Given the description of an element on the screen output the (x, y) to click on. 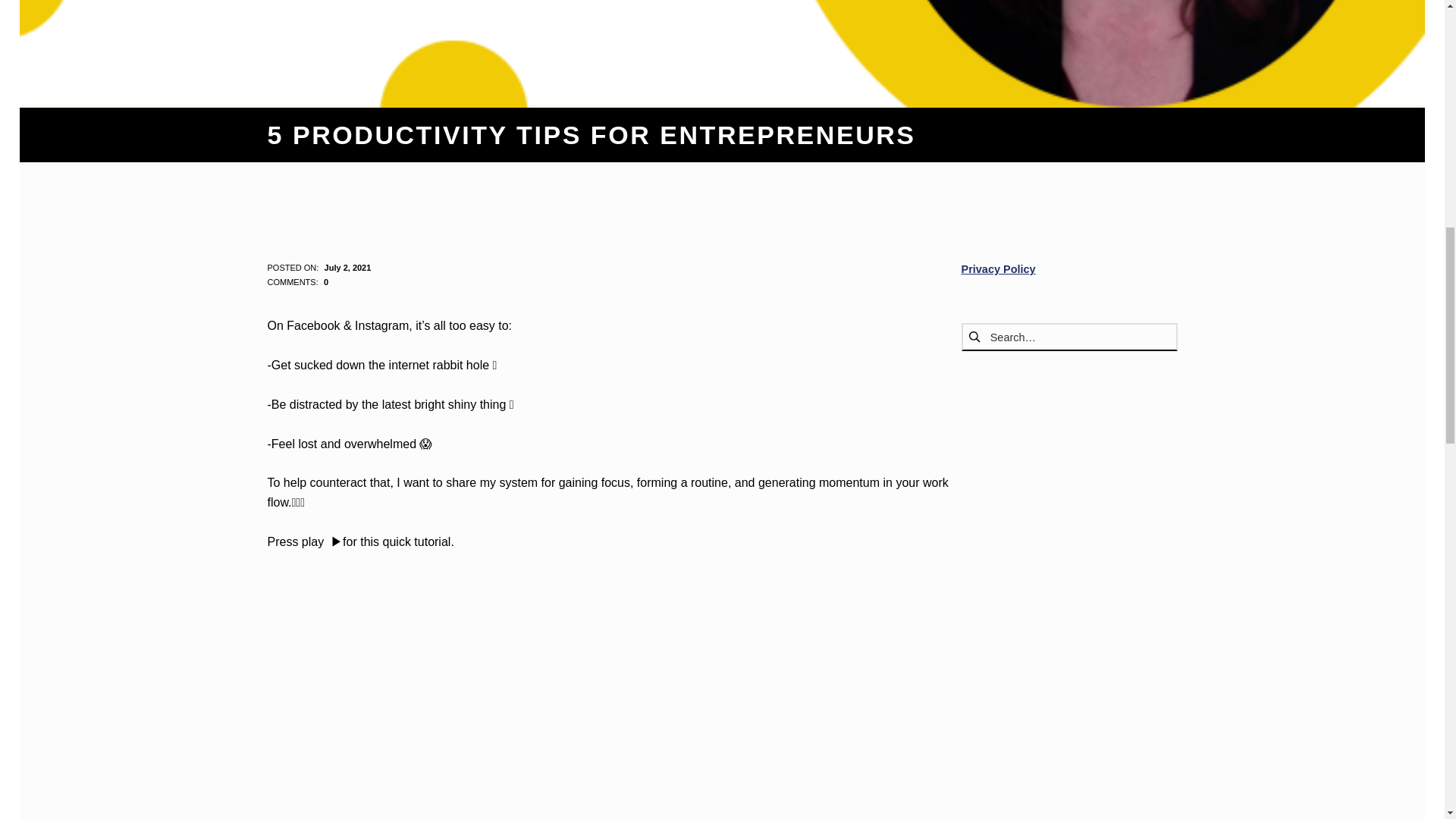
July 2, 2021 (347, 266)
Privacy Policy (997, 268)
Comments: 0 (297, 281)
COMMENTS: 0 (297, 281)
Posted on: July 2, 2021 (347, 266)
